Given the description of an element on the screen output the (x, y) to click on. 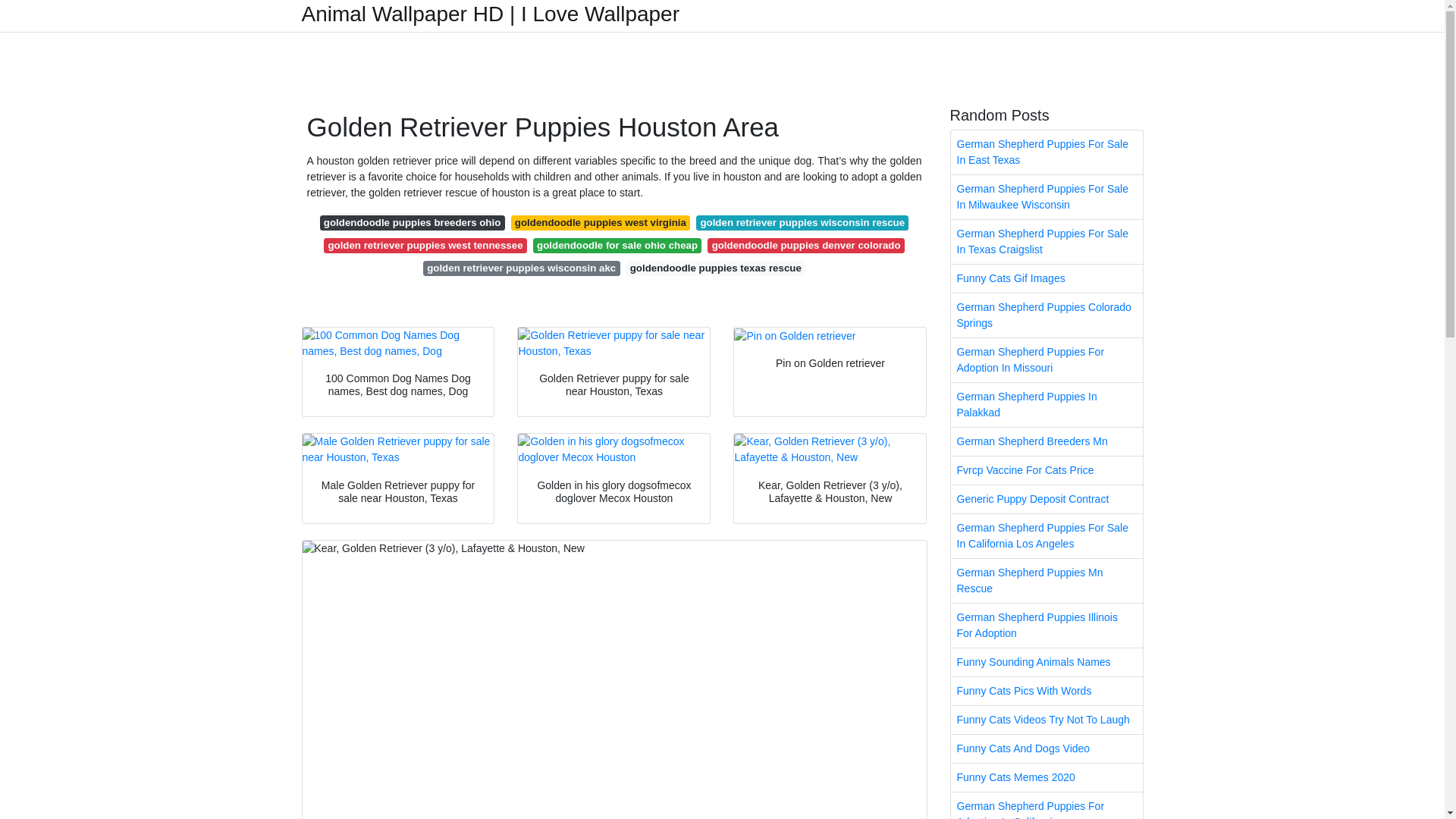
golden retriever puppies wisconsin akc (521, 268)
German Shepherd Puppies For Sale In East Texas (1046, 152)
German Shepherd Puppies In Palakkad (1046, 404)
German Shepherd Puppies Colorado Springs (1046, 315)
Generic Puppy Deposit Contract (1046, 499)
golden retriever puppies wisconsin rescue (801, 222)
German Shepherd Puppies For Sale In Milwaukee Wisconsin (1046, 197)
goldendoodle puppies breeders ohio (412, 222)
Funny Cats Gif Images (1046, 278)
goldendoodle puppies texas rescue (715, 268)
